Given the description of an element on the screen output the (x, y) to click on. 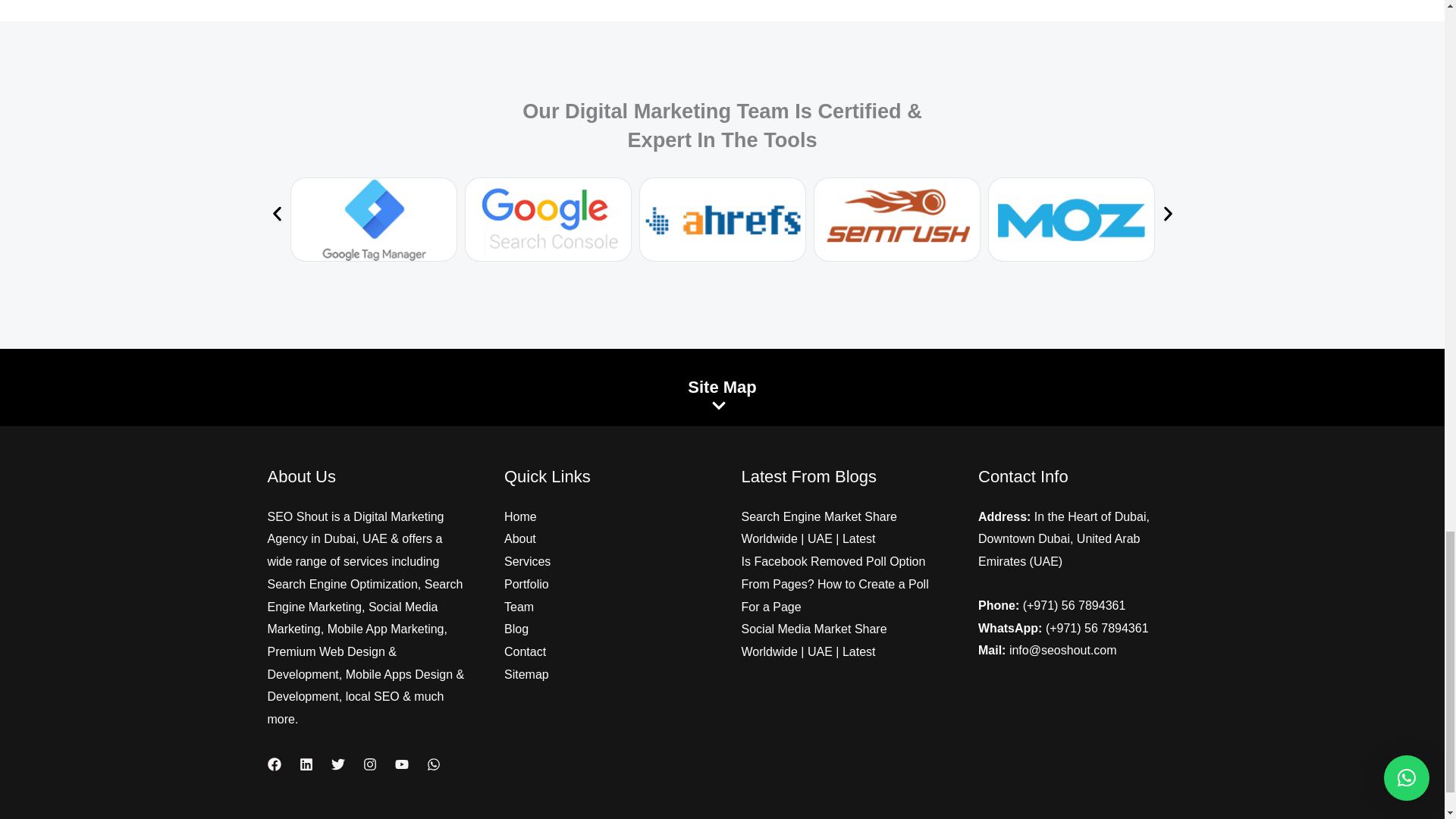
Site Map (722, 387)
